Given the description of an element on the screen output the (x, y) to click on. 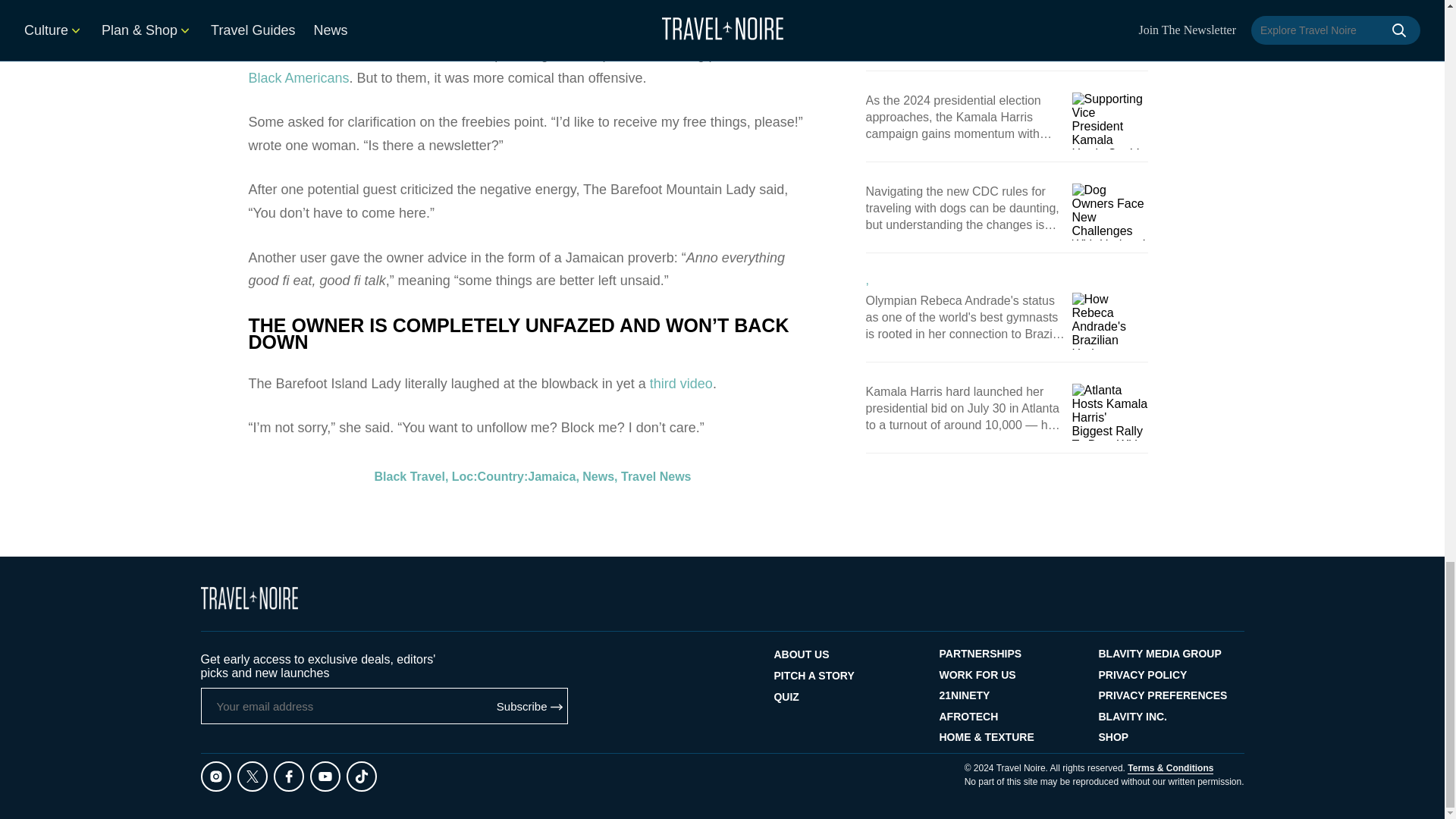
Travel Noire (248, 598)
News (598, 94)
Travel News (656, 94)
Loc:Country:Jamaica (513, 94)
Black Travel (409, 94)
Dog Owners Face New Challenges With Updated CDC Travel Rules (1109, 211)
third video (681, 4)
